Given the description of an element on the screen output the (x, y) to click on. 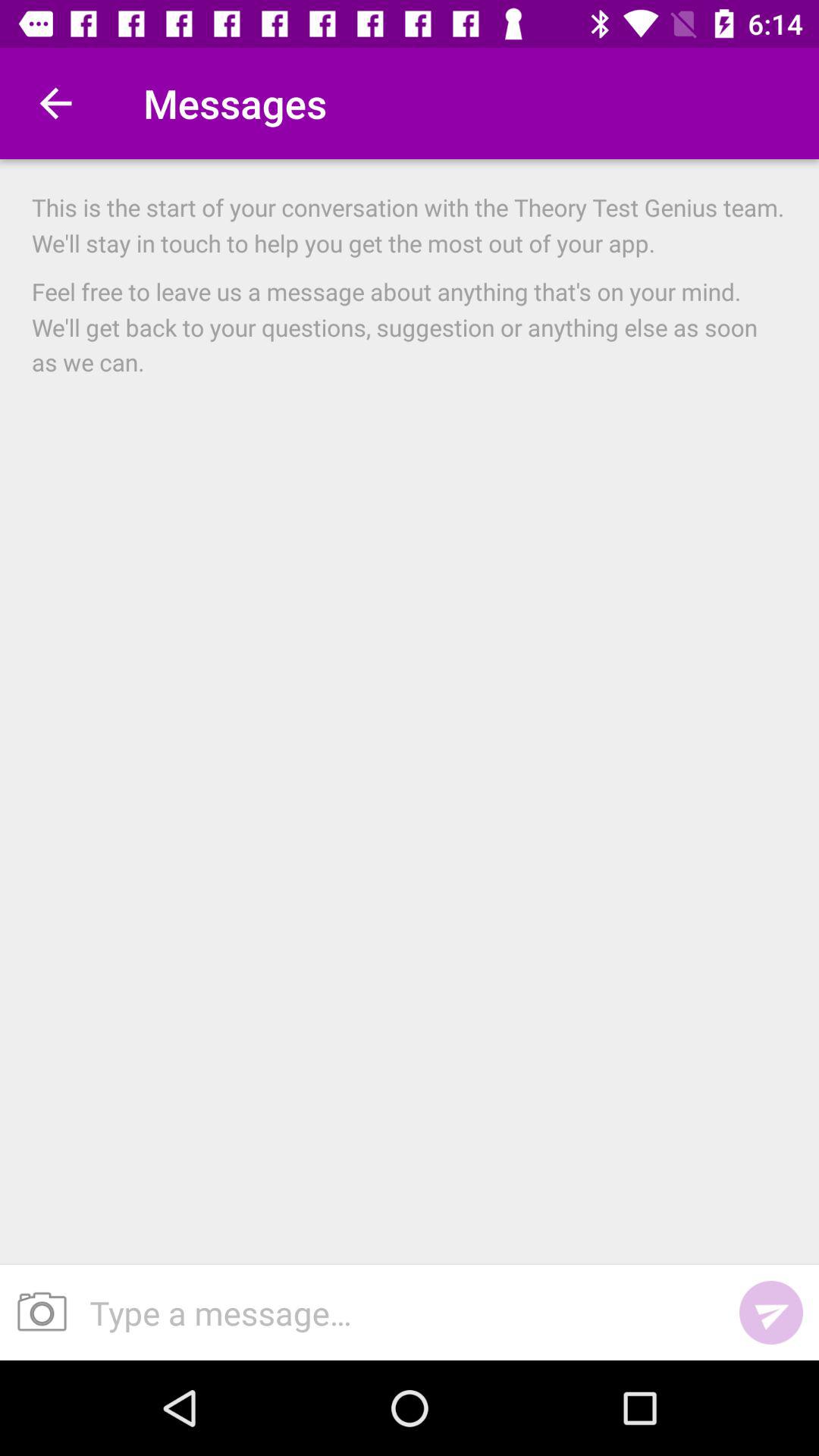
turn on the icon above this is the icon (55, 103)
